Given the description of an element on the screen output the (x, y) to click on. 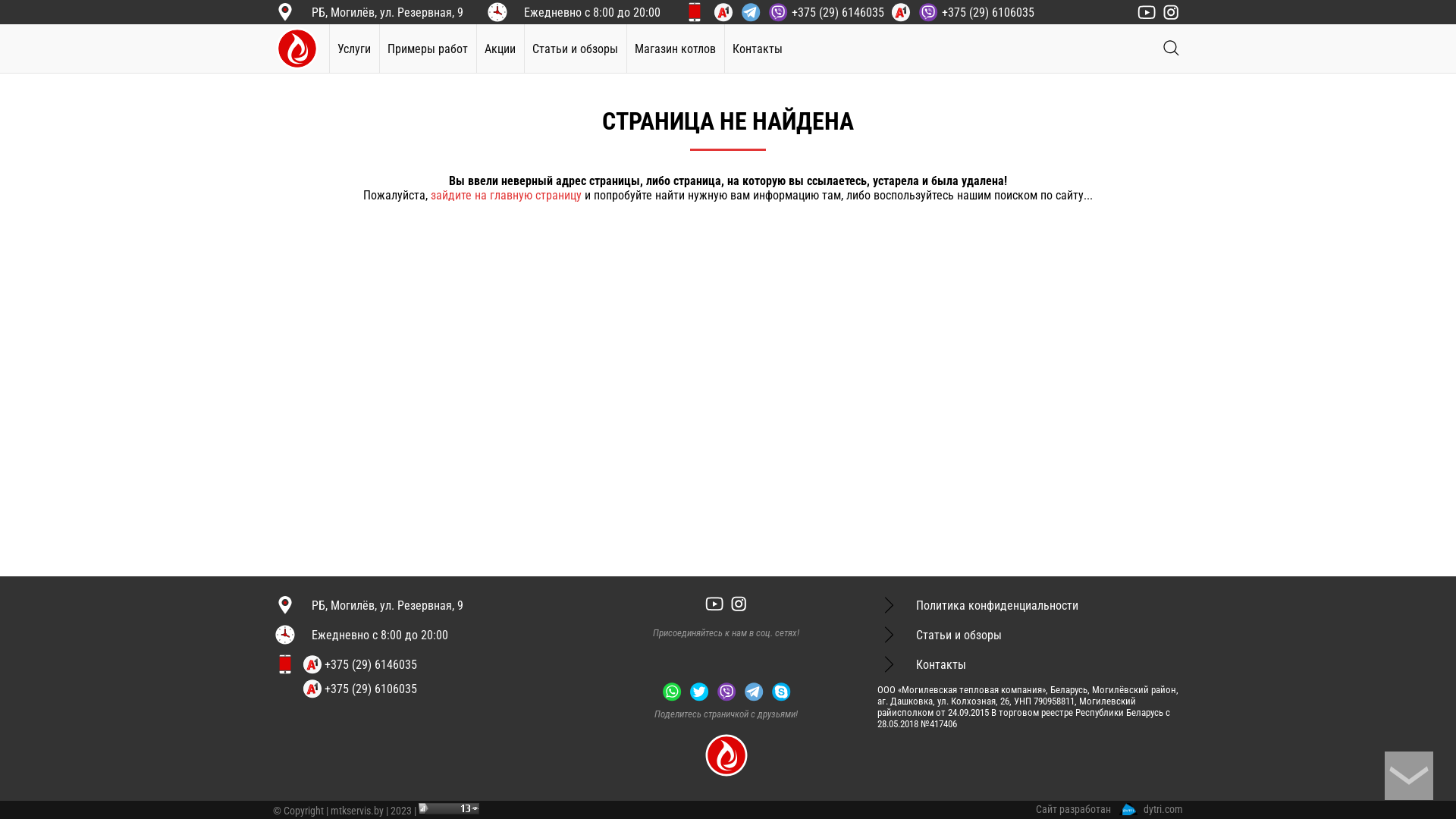
Skype Element type: hover (780, 691)
+375 (29) 6106035 Element type: text (960, 10)
Telegram Element type: hover (753, 691)
Twitter Element type: hover (699, 691)
Viber Element type: hover (726, 691)
dytri.com Element type: text (1151, 809)
+375 (29) 6146035 Element type: text (796, 10)
+375 (29) 6106035 Element type: text (358, 688)
+375 (29) 6146035 Element type: text (358, 664)
WhatsApp Element type: hover (671, 691)
